Given the description of an element on the screen output the (x, y) to click on. 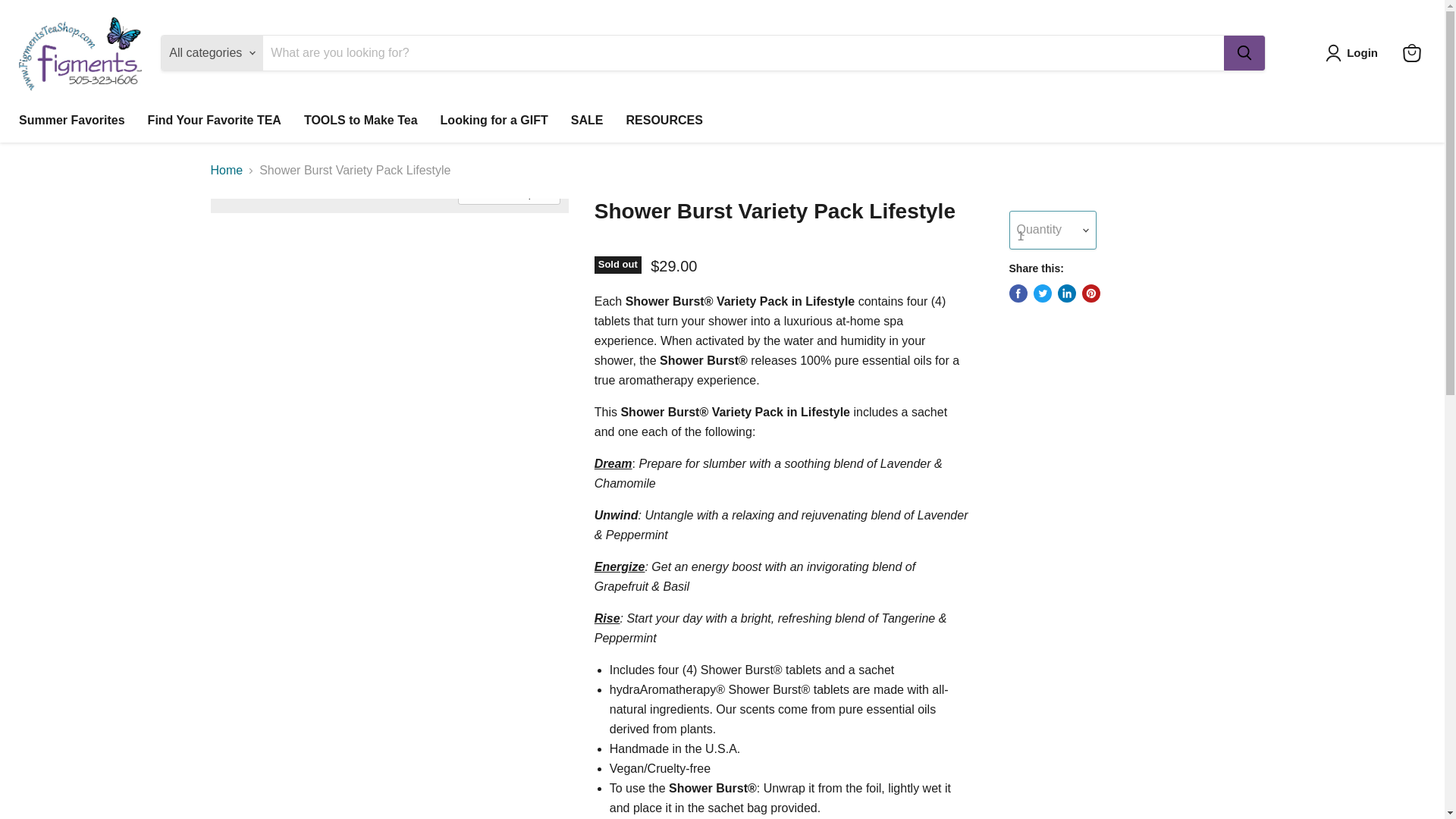
Pin on Pinterest (1090, 293)
Find Your Favorite TEA (214, 120)
Share on LinkedIn (1066, 293)
Summer Favorites (71, 120)
View cart (1411, 52)
Share on Facebook (1017, 293)
TOOLS to Make Tea (360, 120)
Tweet on Twitter (1041, 293)
Click to expand (508, 192)
SALE (586, 120)
Looking for a GIFT (494, 120)
RESOURCES (663, 120)
Login (1362, 53)
Home (227, 170)
